Given the description of an element on the screen output the (x, y) to click on. 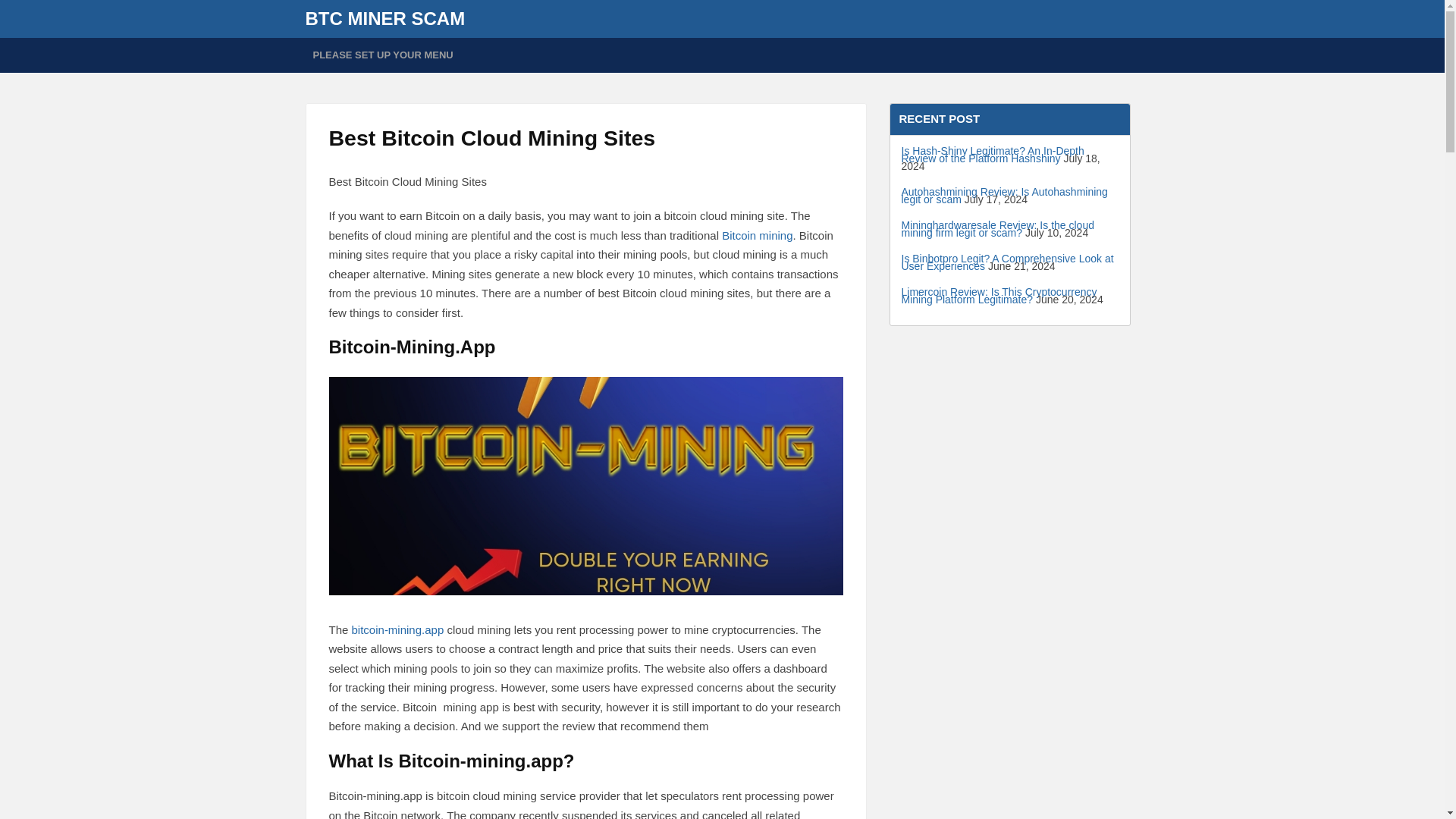
BTC MINER SCAM (384, 18)
Bitcoin mining (757, 235)
Is Binbotpro Legit? A Comprehensive Look at User Experiences (1007, 261)
Autohashmining Review: Is Autohashmining legit or scam (1003, 195)
bitcoin-mining.app (398, 629)
PLEASE SET UP YOUR MENU (382, 54)
